Given the description of an element on the screen output the (x, y) to click on. 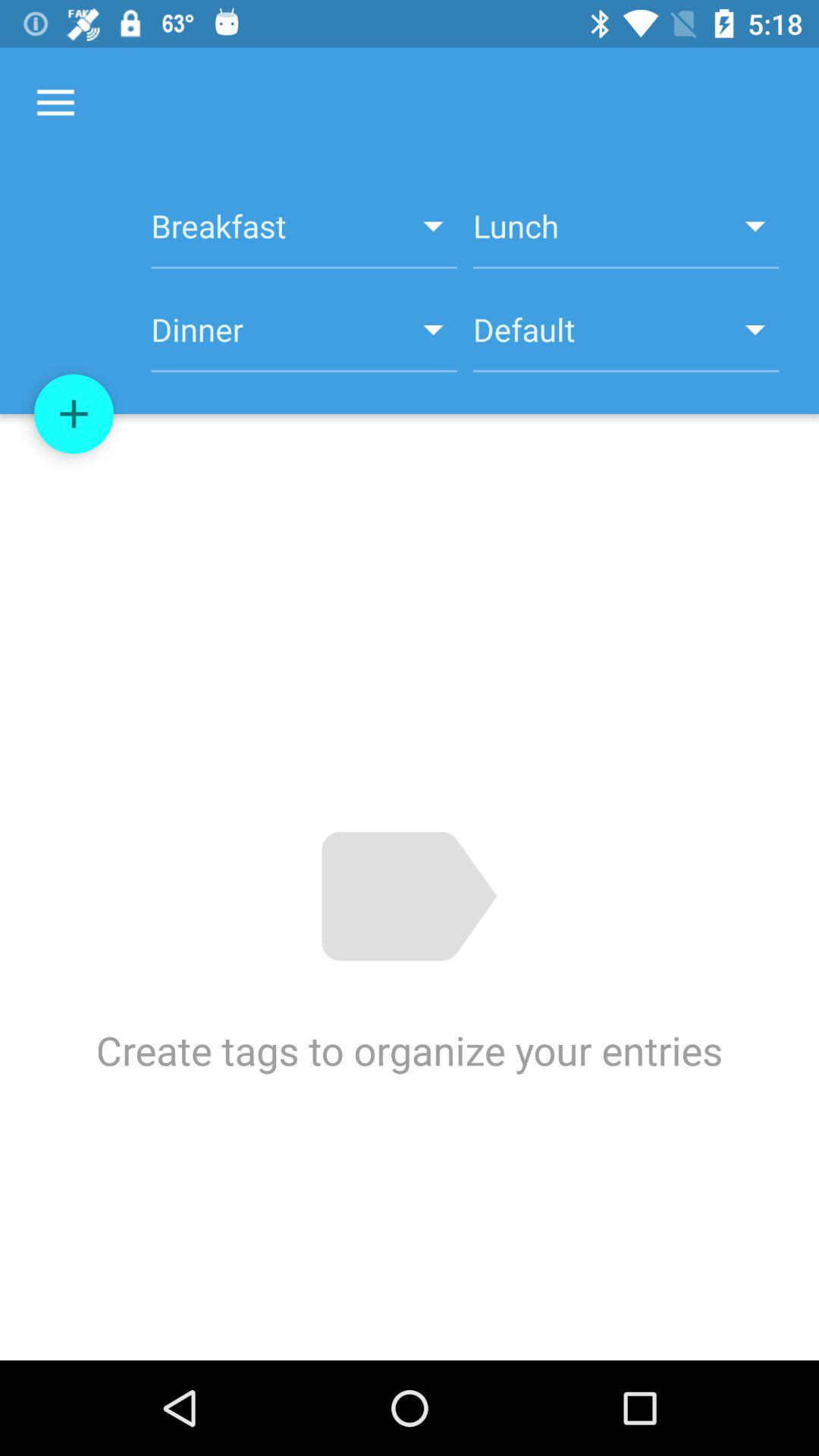
select item to the right of breakfast icon (626, 234)
